Given the description of an element on the screen output the (x, y) to click on. 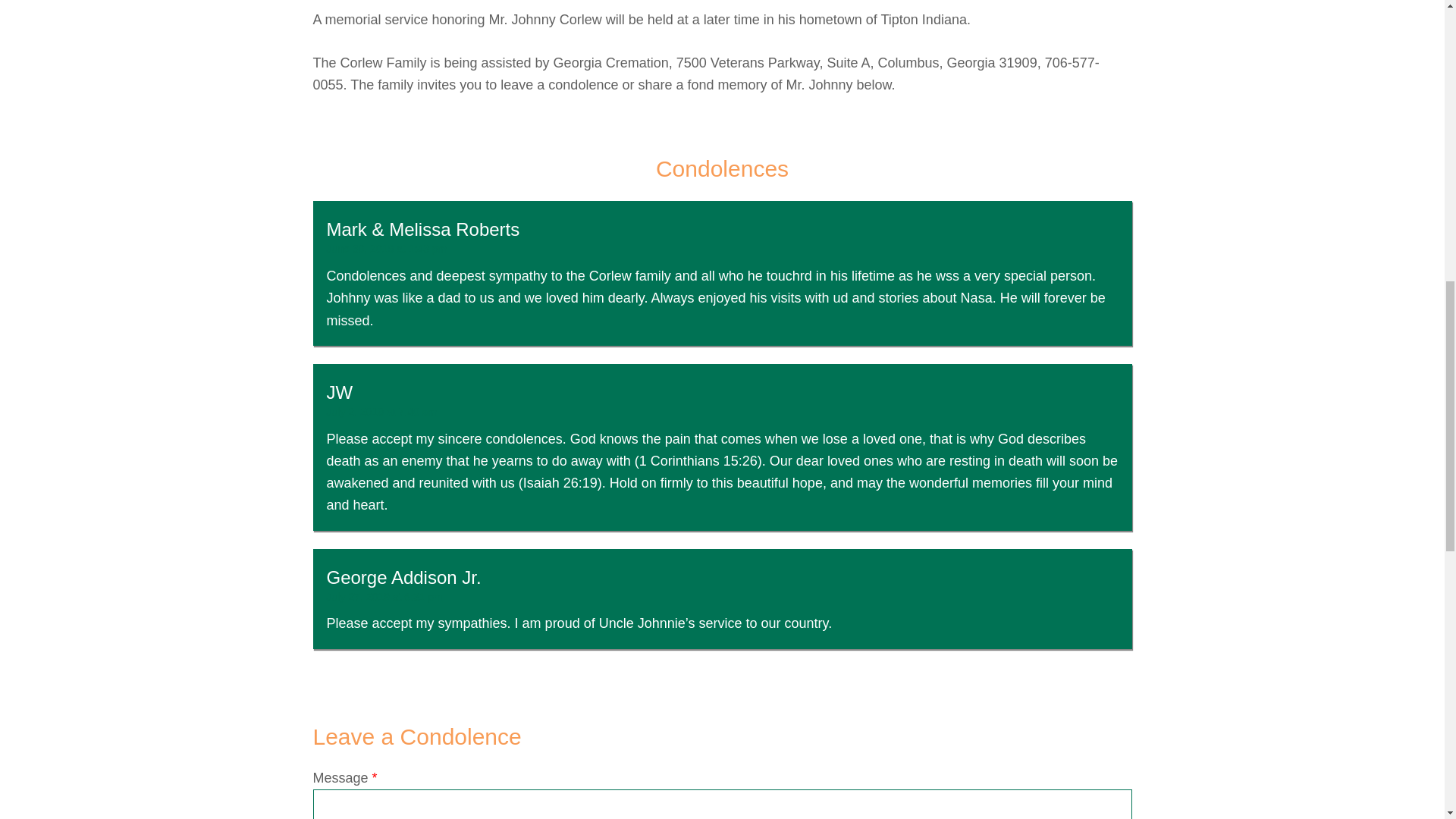
July 27, 2019 at 6:31 pm (384, 596)
July 2, 2019 at 7:40 am (381, 411)
June 30, 2019 at 1:43 pm (386, 248)
